Given the description of an element on the screen output the (x, y) to click on. 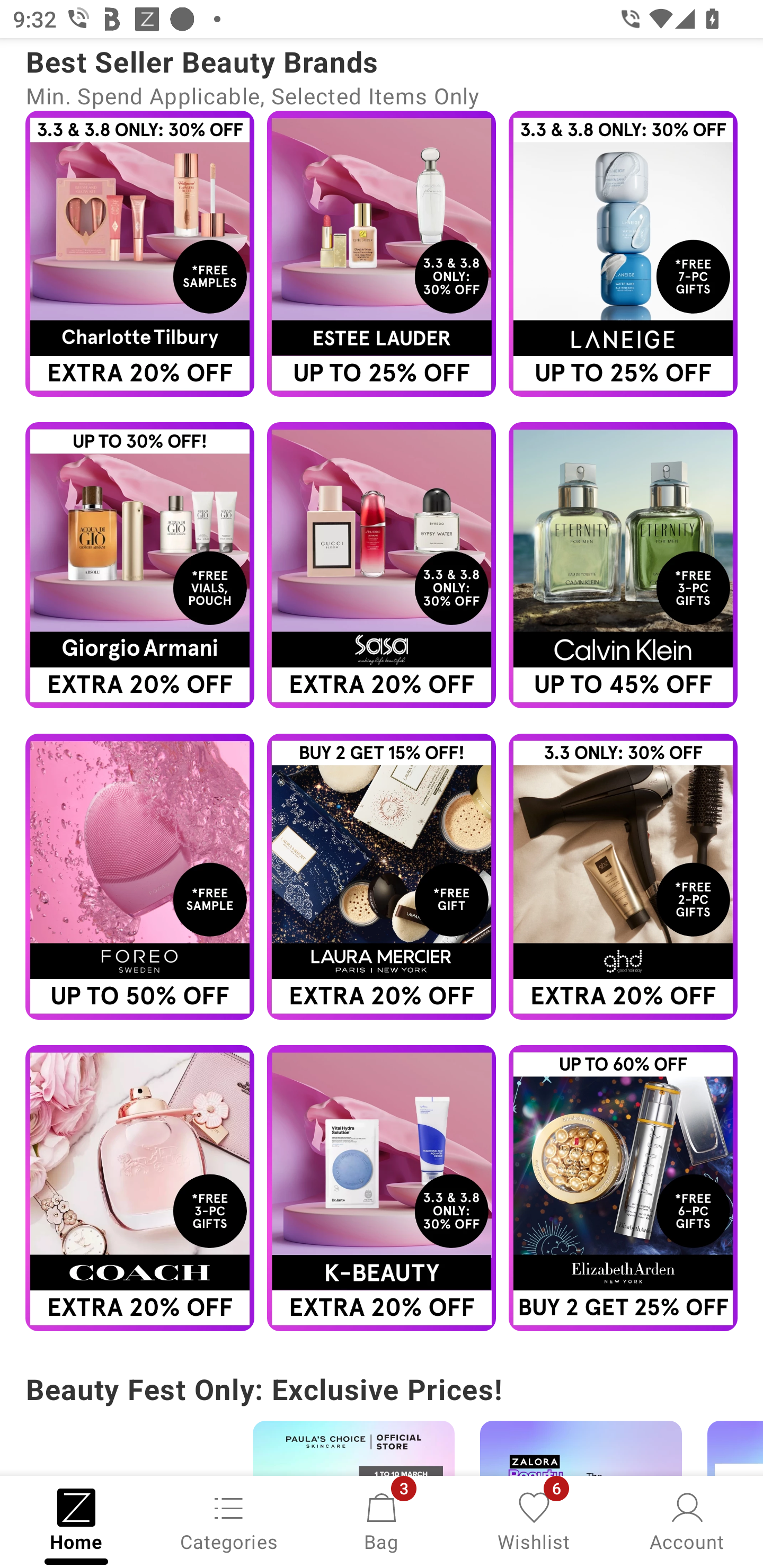
Campaign banner (139, 253)
Campaign banner (381, 253)
Campaign banner (622, 253)
Campaign banner (139, 564)
Campaign banner (381, 564)
Campaign banner (622, 564)
Campaign banner (139, 876)
Campaign banner (381, 876)
Campaign banner (622, 876)
Campaign banner (139, 1188)
Campaign banner (381, 1188)
Campaign banner (622, 1188)
Categories (228, 1519)
Bag, 3 new notifications Bag (381, 1519)
Wishlist, 6 new notifications Wishlist (533, 1519)
Account (686, 1519)
